Given the description of an element on the screen output the (x, y) to click on. 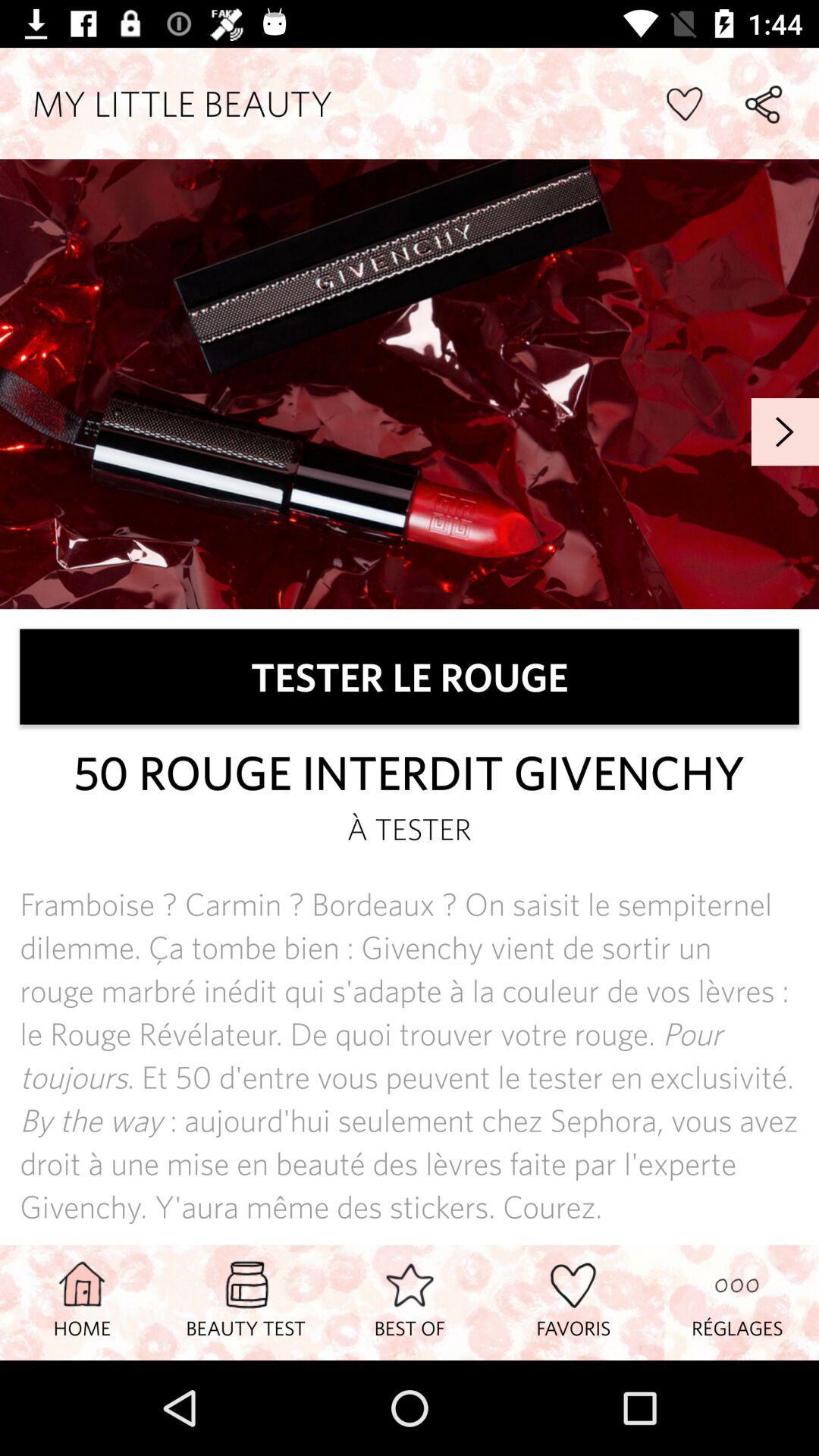
turn on icon next to favoris item (409, 1302)
